Given the description of an element on the screen output the (x, y) to click on. 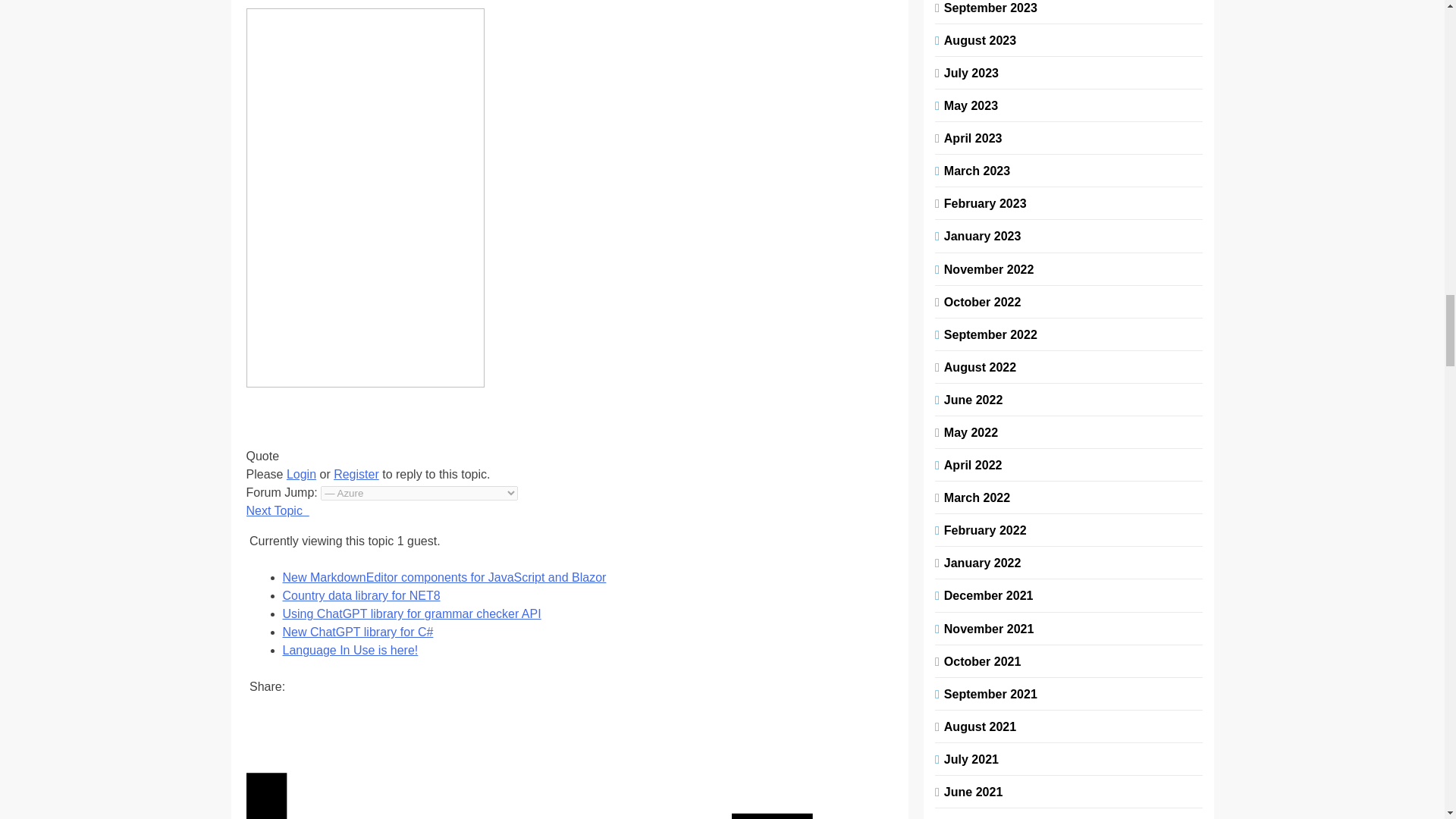
Swift can't find the Entity Core Data (277, 510)
